Given the description of an element on the screen output the (x, y) to click on. 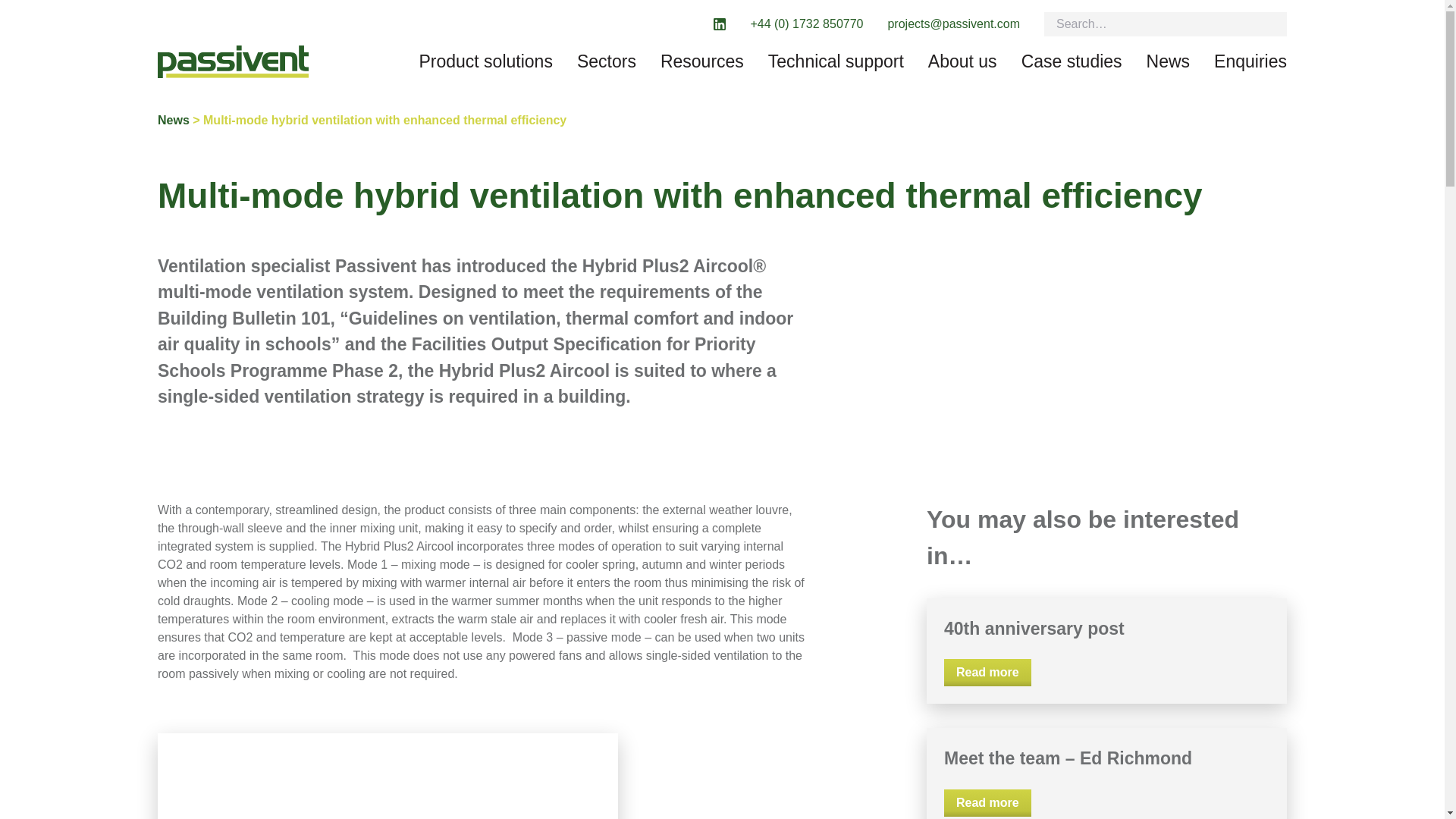
Call us (806, 24)
Email us (953, 24)
Follow us on LinkedIn (719, 24)
Read more about 40th anniversary post (986, 672)
Resources (702, 61)
Product solutions (485, 61)
Sectors (606, 61)
